Given the description of an element on the screen output the (x, y) to click on. 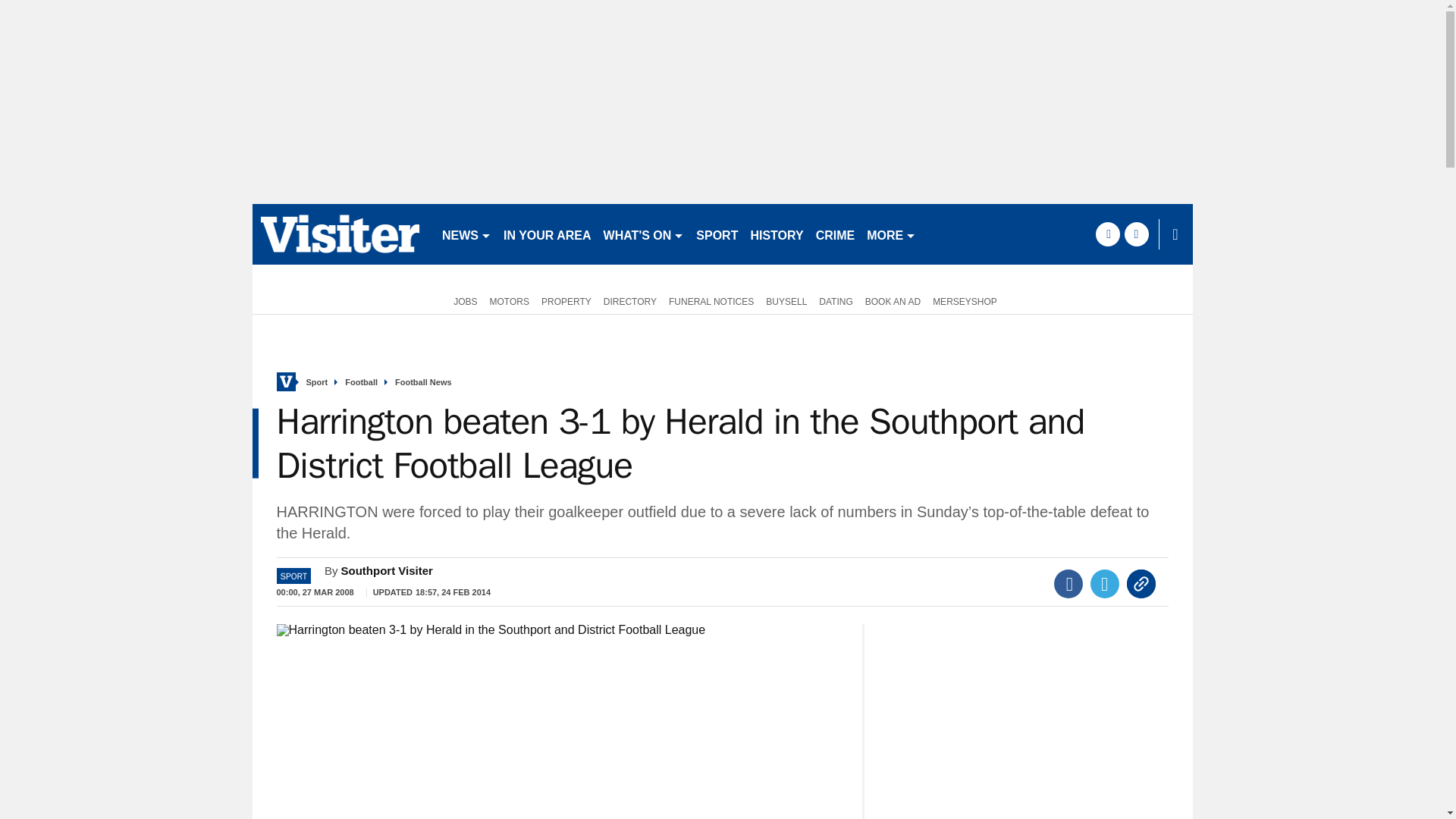
BUYSELL (786, 300)
IN YOUR AREA (546, 233)
Twitter (1104, 583)
MOTORS (509, 300)
DATING (835, 300)
WHAT'S ON (643, 233)
Facebook (1068, 583)
FUNERAL NOTICES (711, 300)
MORE (890, 233)
facebook (1106, 233)
